Given the description of an element on the screen output the (x, y) to click on. 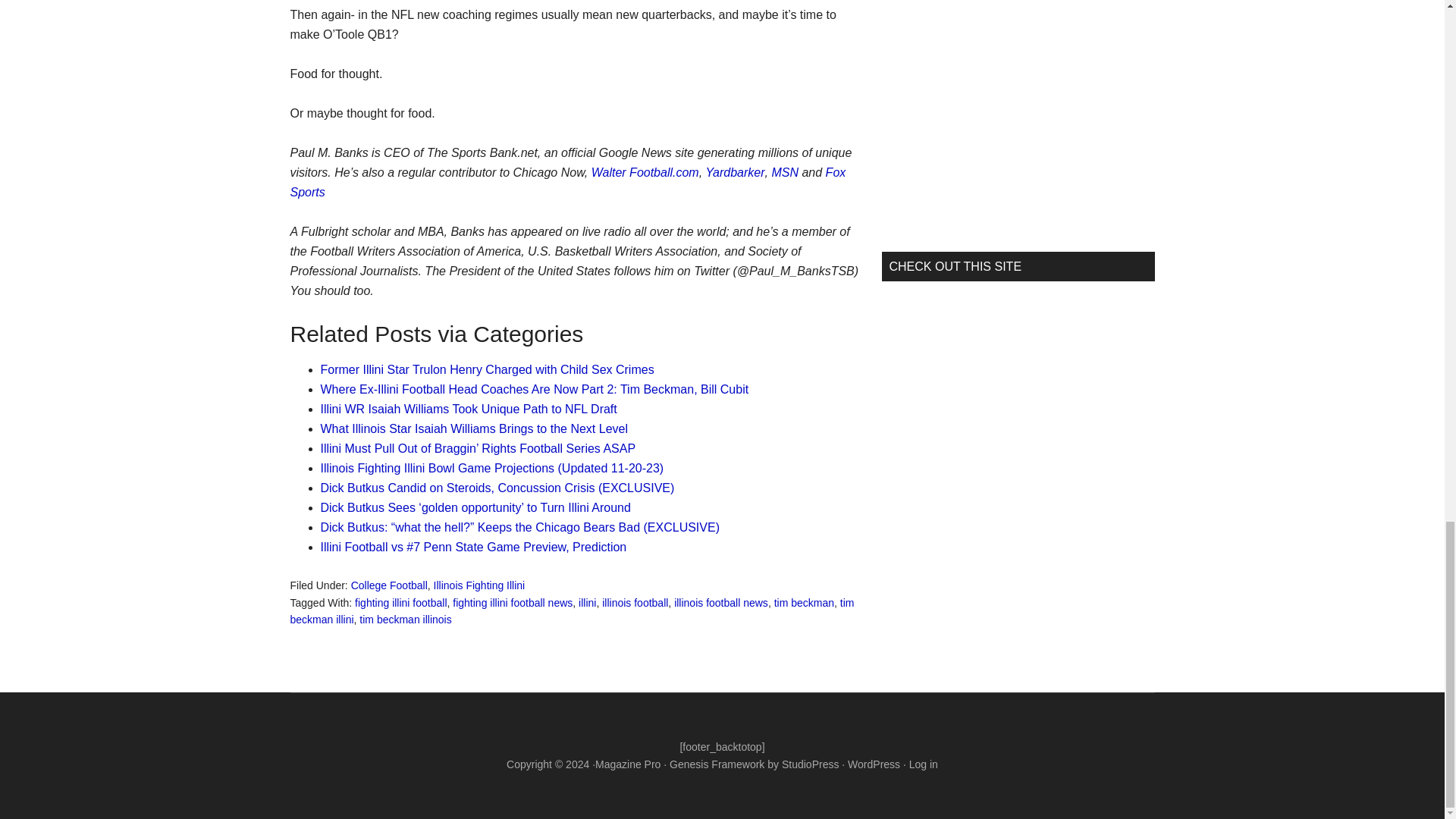
Yardbarker (735, 172)
Walter Football.com (644, 172)
Fox Sports (567, 182)
Illini WR Isaiah Williams Took Unique Path to NFL Draft (467, 408)
Illini WR Isaiah Williams Took Unique Path to NFL Draft (467, 408)
What Illinois Star Isaiah Williams Brings to the Next Level (473, 428)
Illinois Fighting Illini (479, 585)
What Illinois Star Isaiah Williams Brings to the Next Level (473, 428)
MSN (784, 172)
College Football (389, 585)
